Given the description of an element on the screen output the (x, y) to click on. 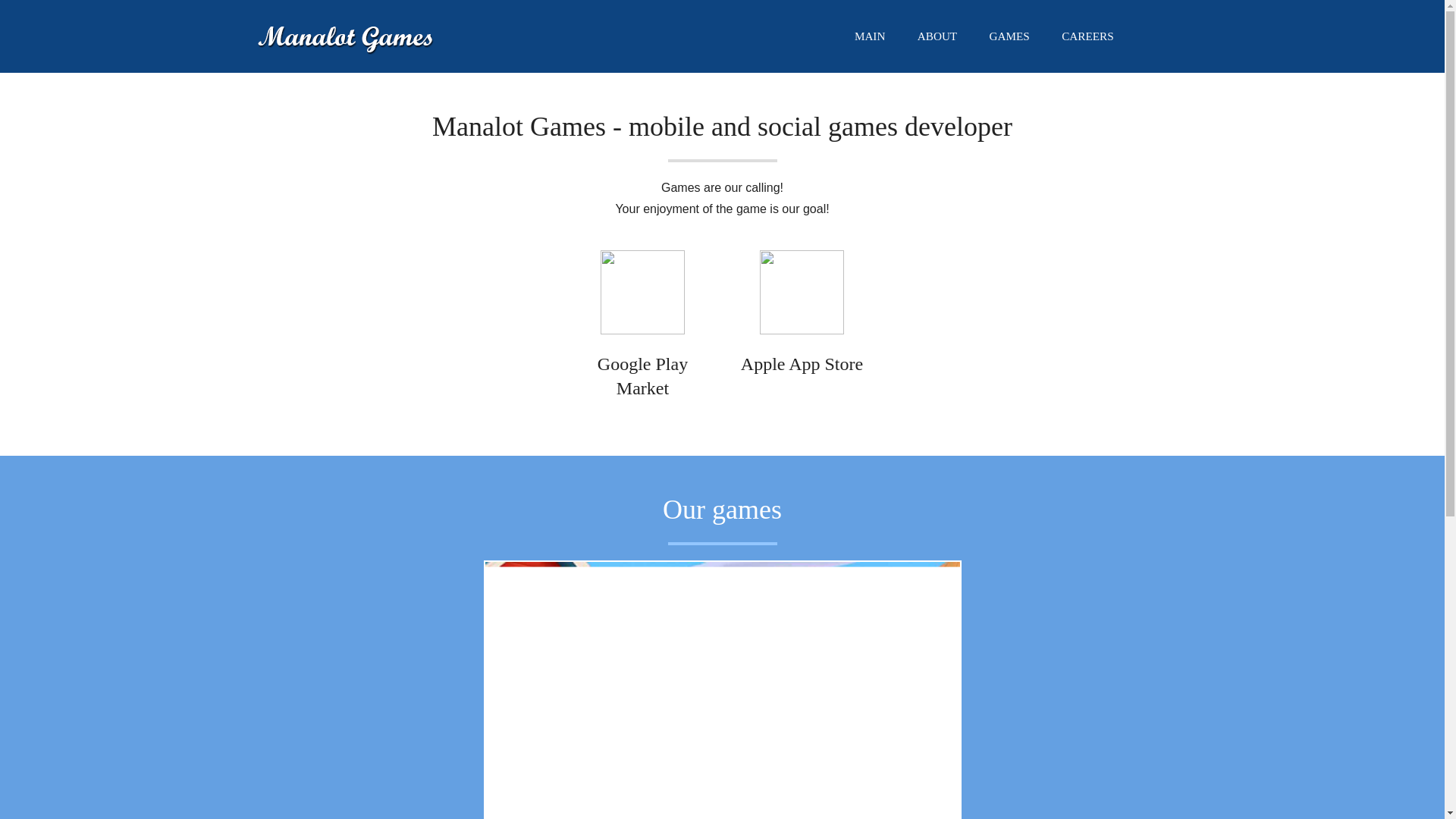
CAREERS (1086, 36)
ABOUT (936, 36)
GAMES (1009, 36)
MAIN (869, 36)
